Given the description of an element on the screen output the (x, y) to click on. 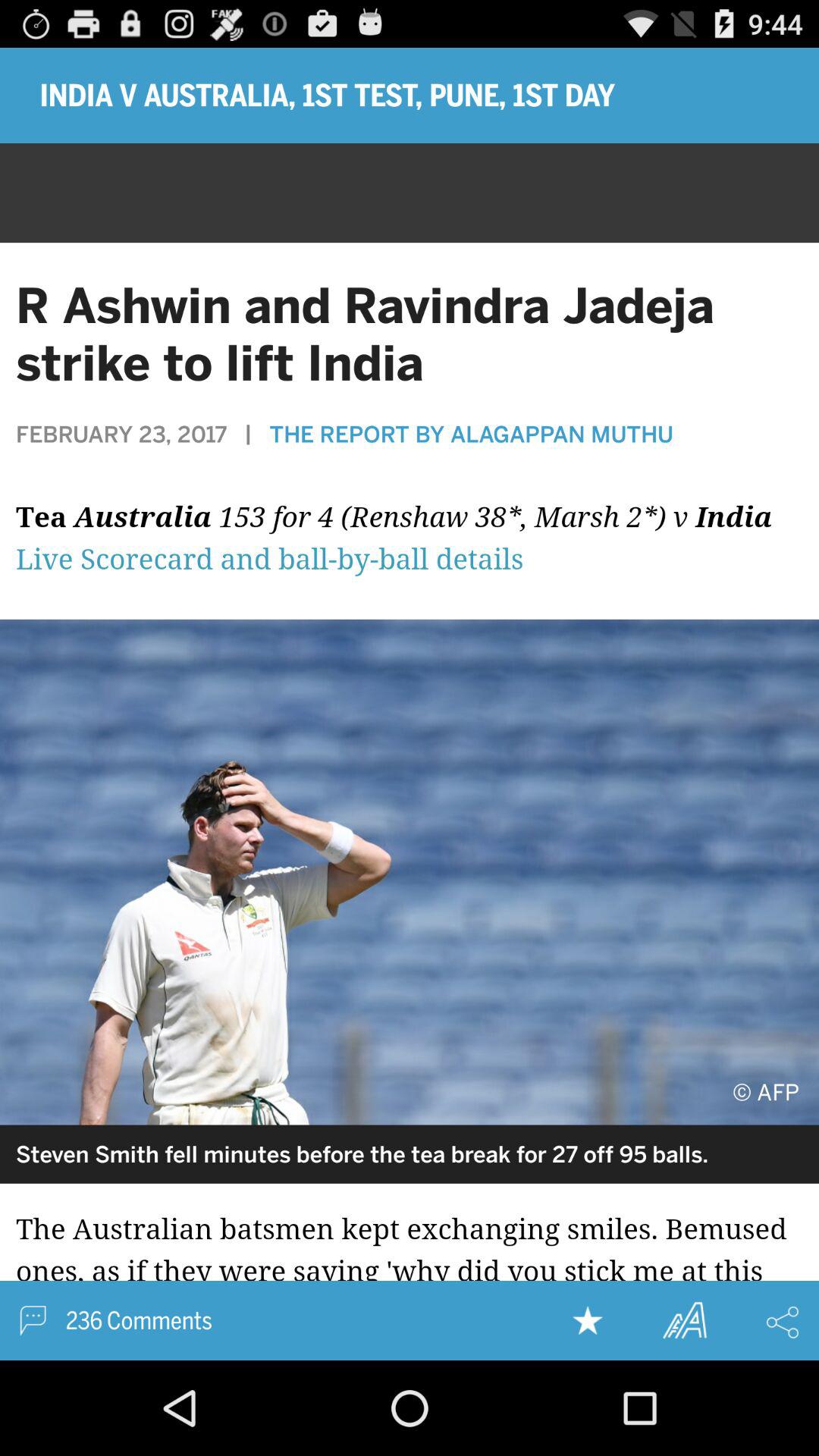
open news story (409, 1271)
